Given the description of an element on the screen output the (x, y) to click on. 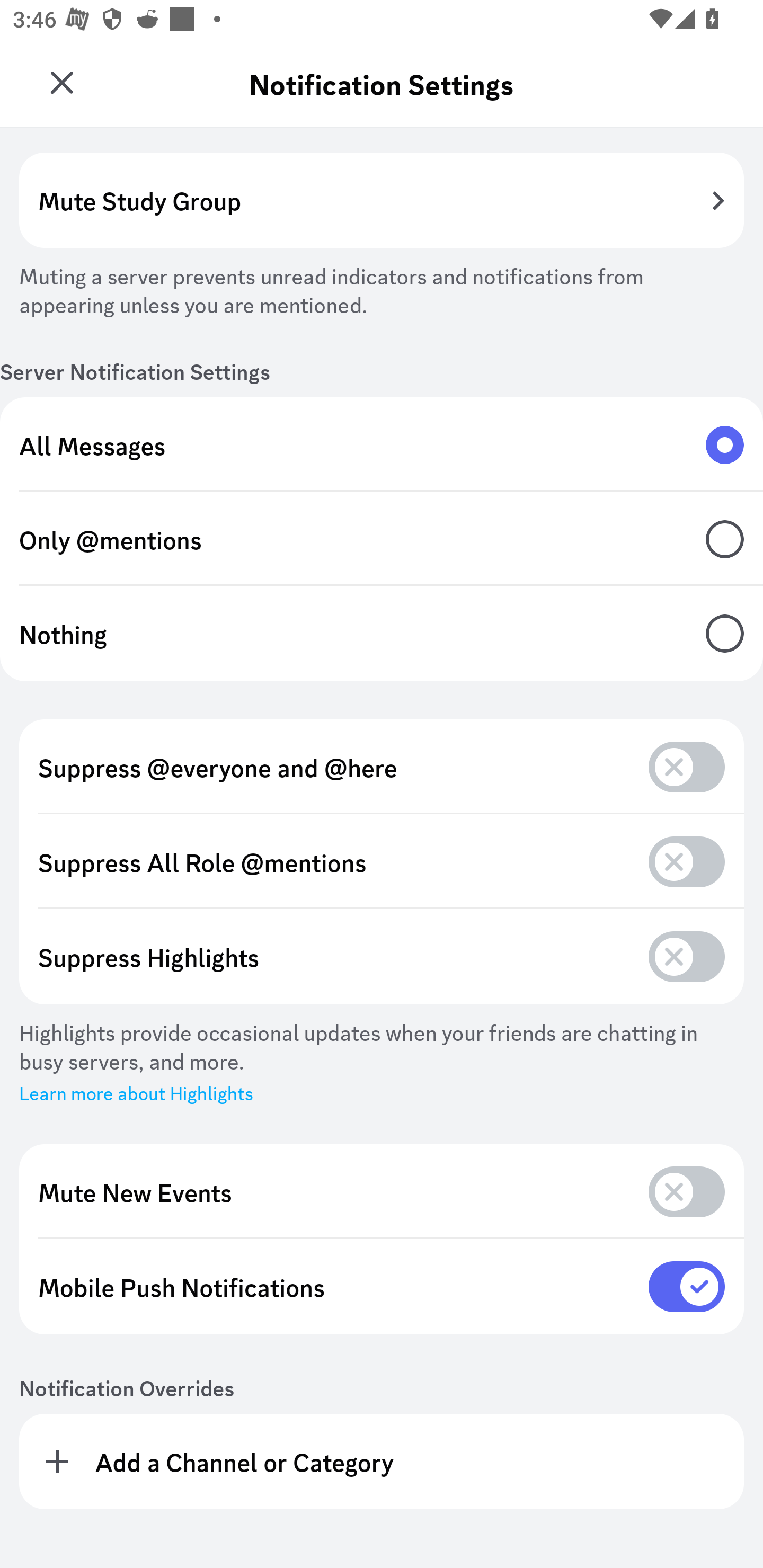
  Study Group SG (66, 75)
Mute Study Group (381, 199)
All Messages,  All Messages (381, 444)
Only @mentions,  Only @mentions (381, 539)
Nothing,  Nothing (381, 633)
off (686, 766)
off (686, 861)
off Suppress Highlights,  Suppress Highlights off (381, 957)
off (686, 956)
off Mute New Events,  Mute New Events off (381, 1192)
off (686, 1191)
on (686, 1286)
Add a Channel or Category (381, 1461)
